Given the description of an element on the screen output the (x, y) to click on. 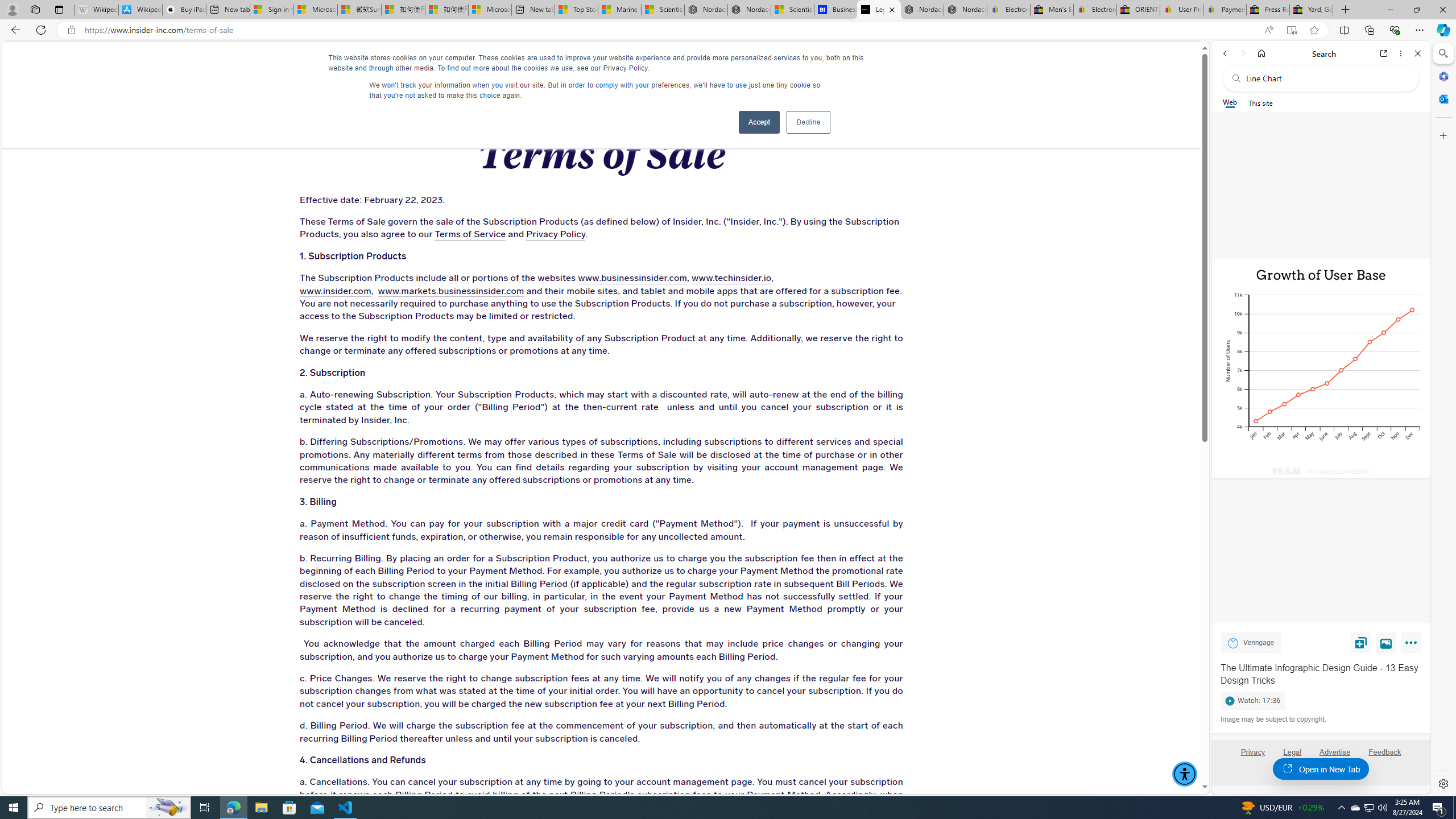
Terms of Service (469, 234)
ADVERTISE WITH US (446, 62)
Buy iPad - Apple (184, 9)
www.businessinsider.com (632, 278)
Minimize Search pane (1442, 53)
